Given the description of an element on the screen output the (x, y) to click on. 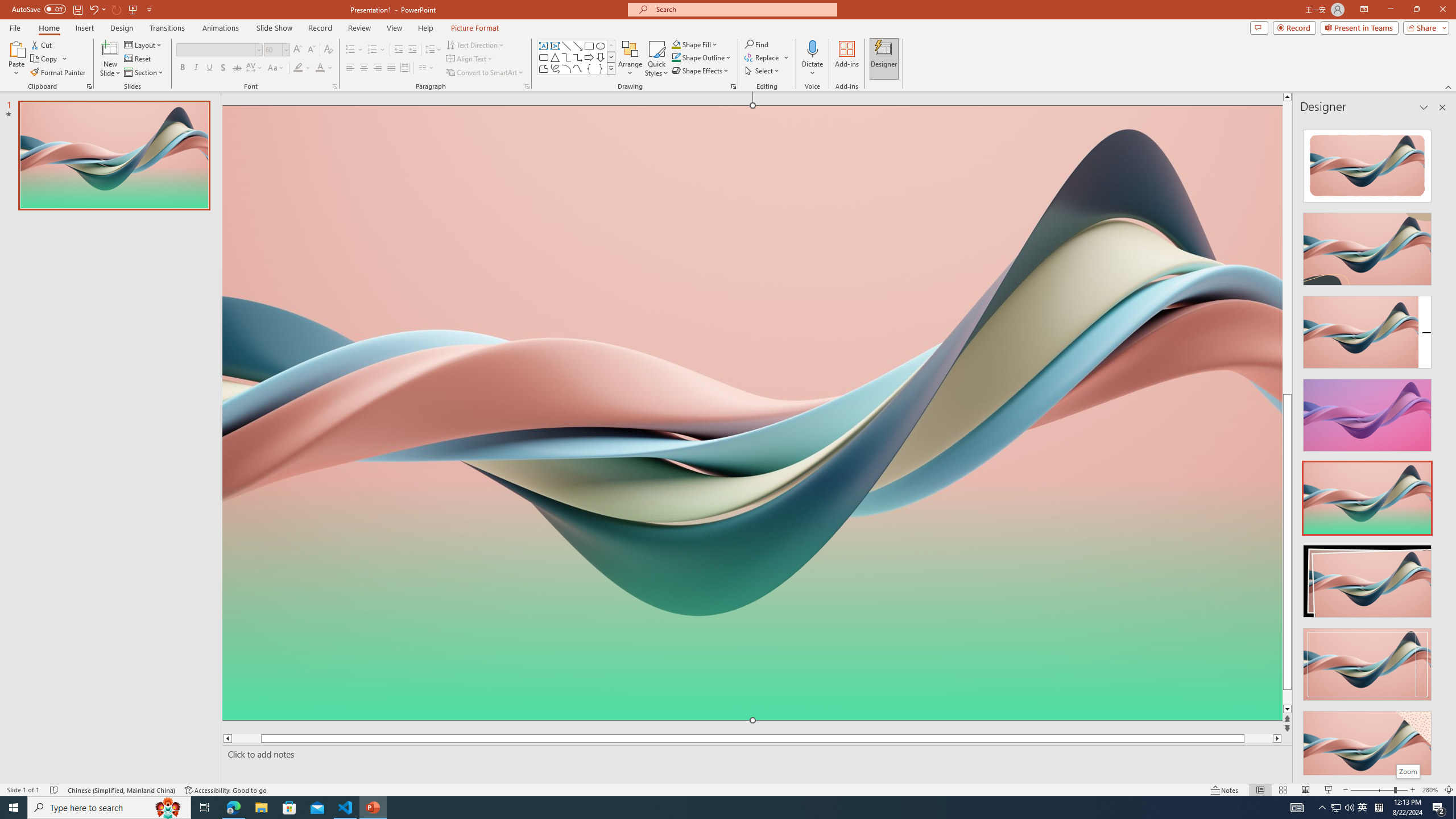
Wavy 3D art (752, 412)
